Given the description of an element on the screen output the (x, y) to click on. 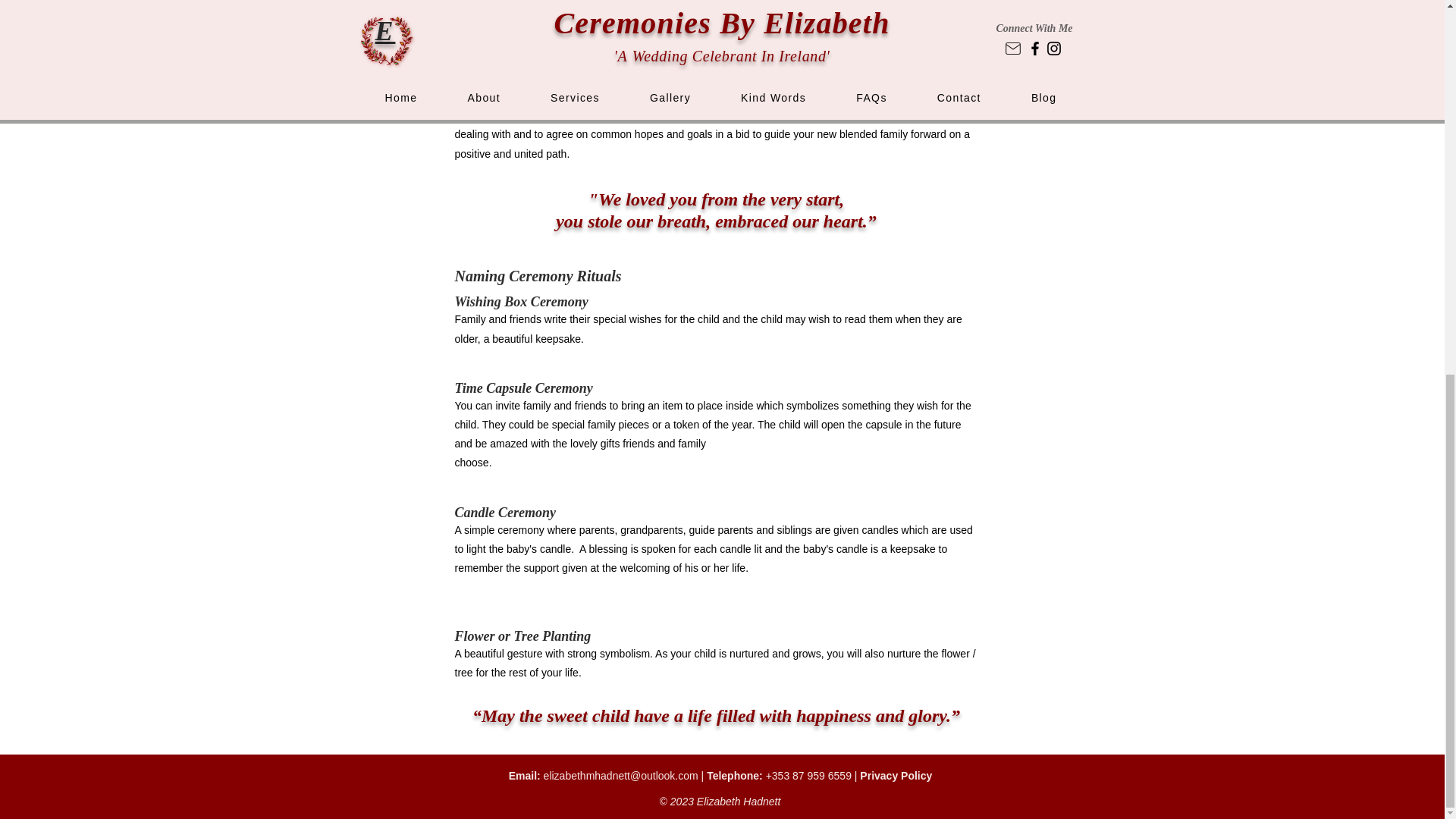
Privacy Policy (895, 775)
